Given the description of an element on the screen output the (x, y) to click on. 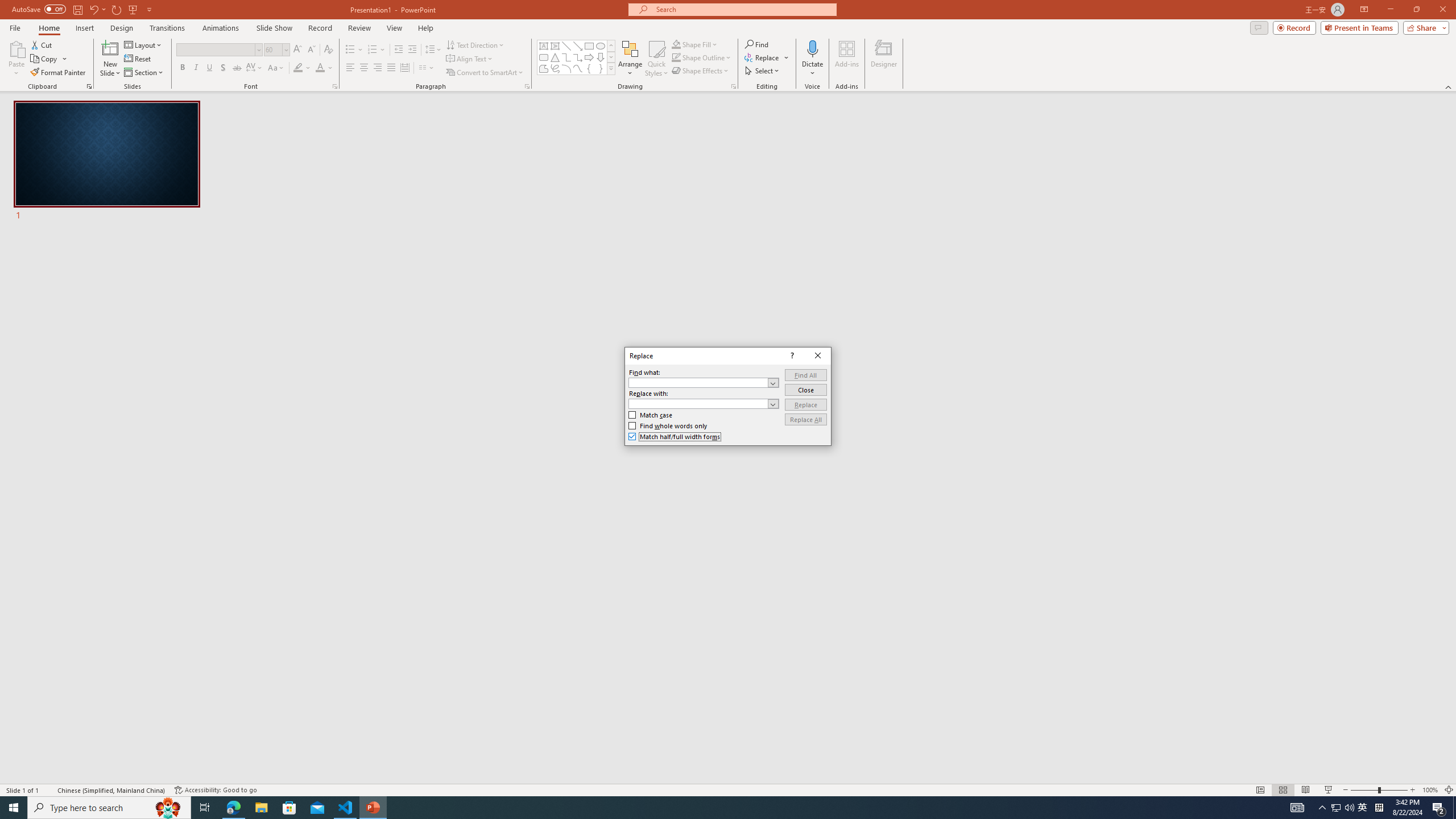
Spell Check  (49, 790)
